Given the description of an element on the screen output the (x, y) to click on. 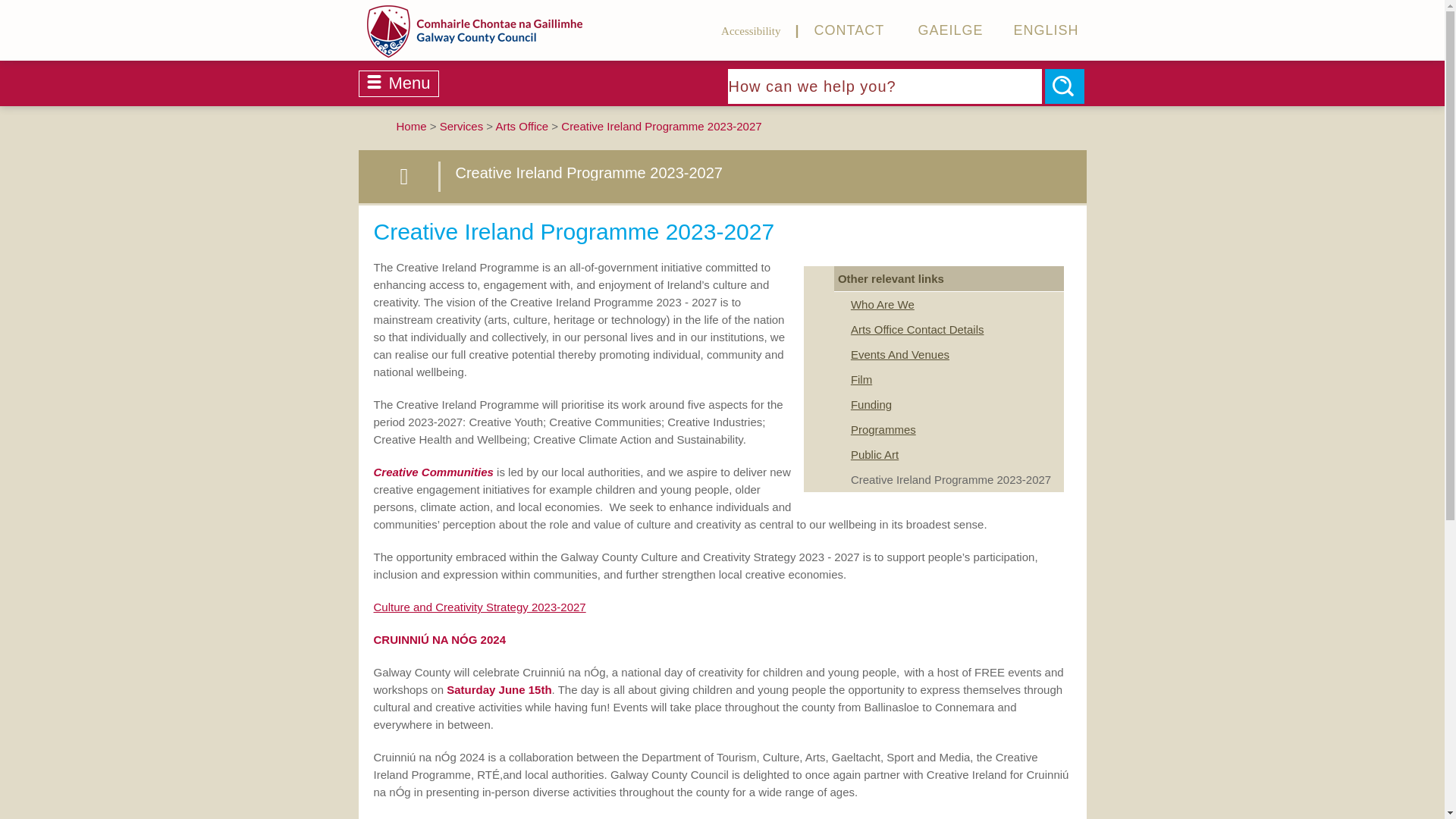
GAEILGE (934, 30)
CONTACT (834, 30)
Menu (398, 83)
ENGLISH (1030, 30)
How can we help you? (885, 86)
